Given the description of an element on the screen output the (x, y) to click on. 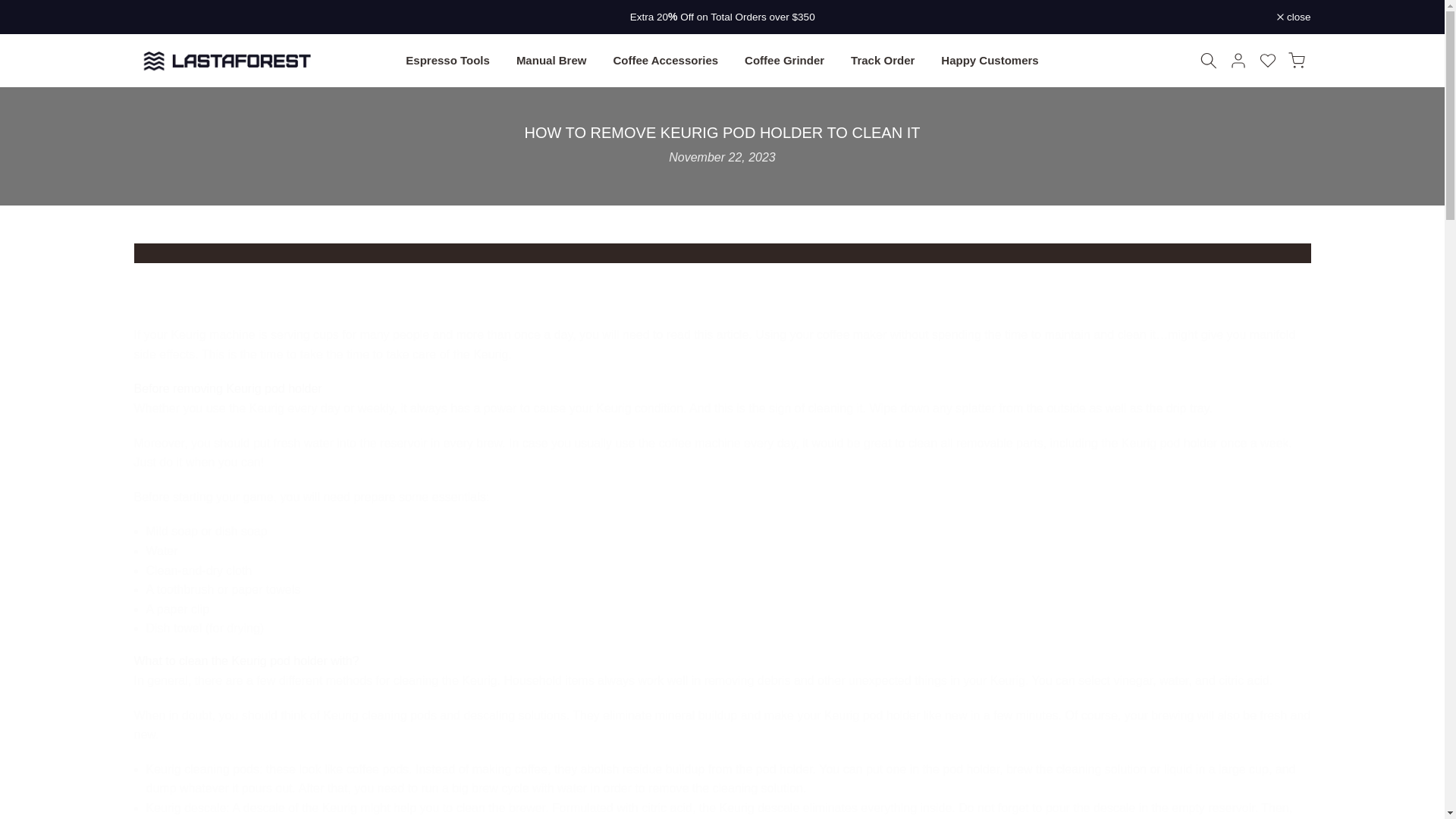
Happy Customers (989, 59)
Manual Brew (550, 59)
close (1293, 17)
Track Order (883, 59)
Coffee Accessories (665, 59)
Skip to content (10, 7)
Coffee Grinder (785, 59)
Espresso Tools (448, 59)
